Given the description of an element on the screen output the (x, y) to click on. 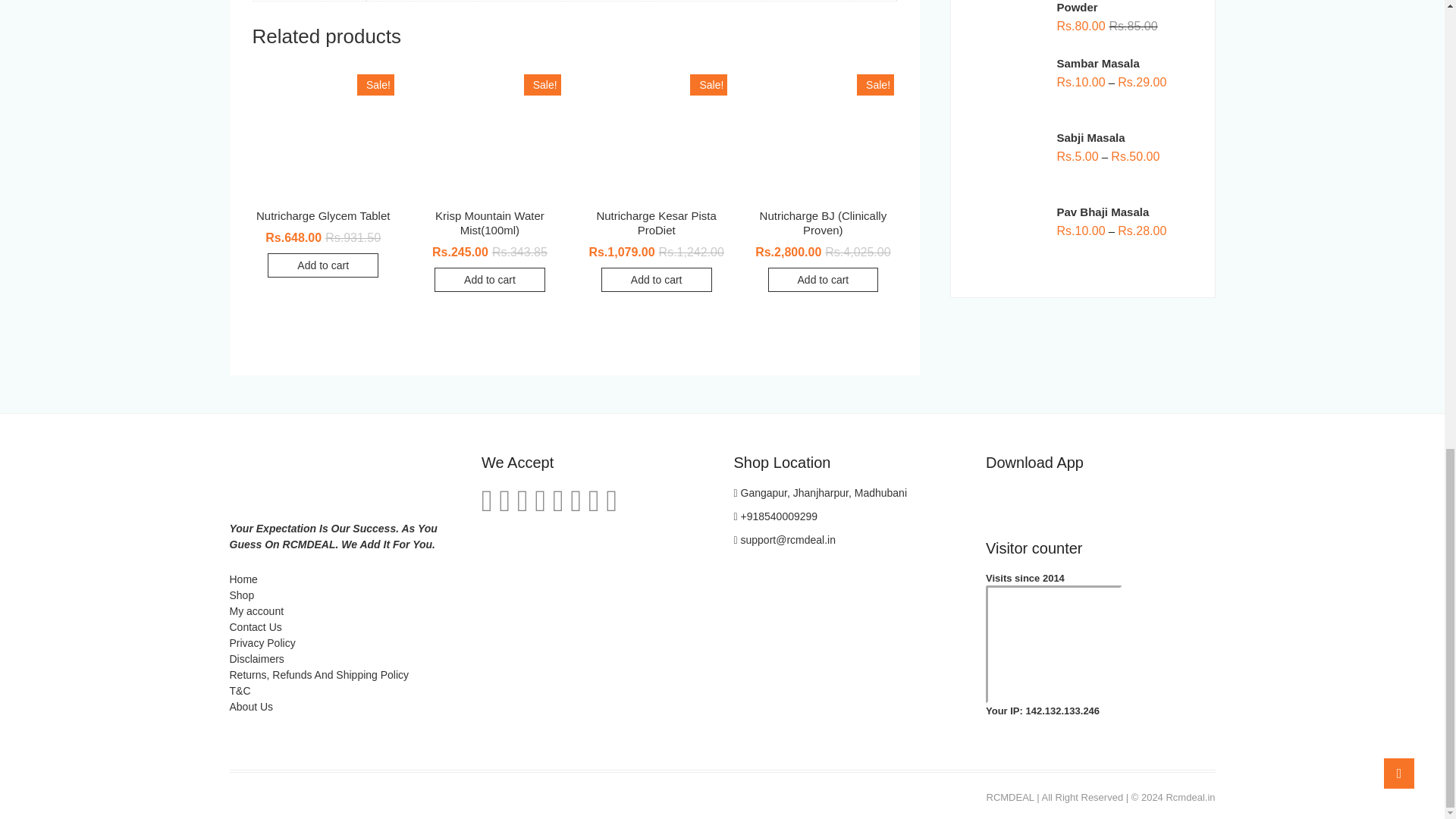
Add to cart (322, 265)
Our Address (820, 492)
Add to cart (488, 279)
